Given the description of an element on the screen output the (x, y) to click on. 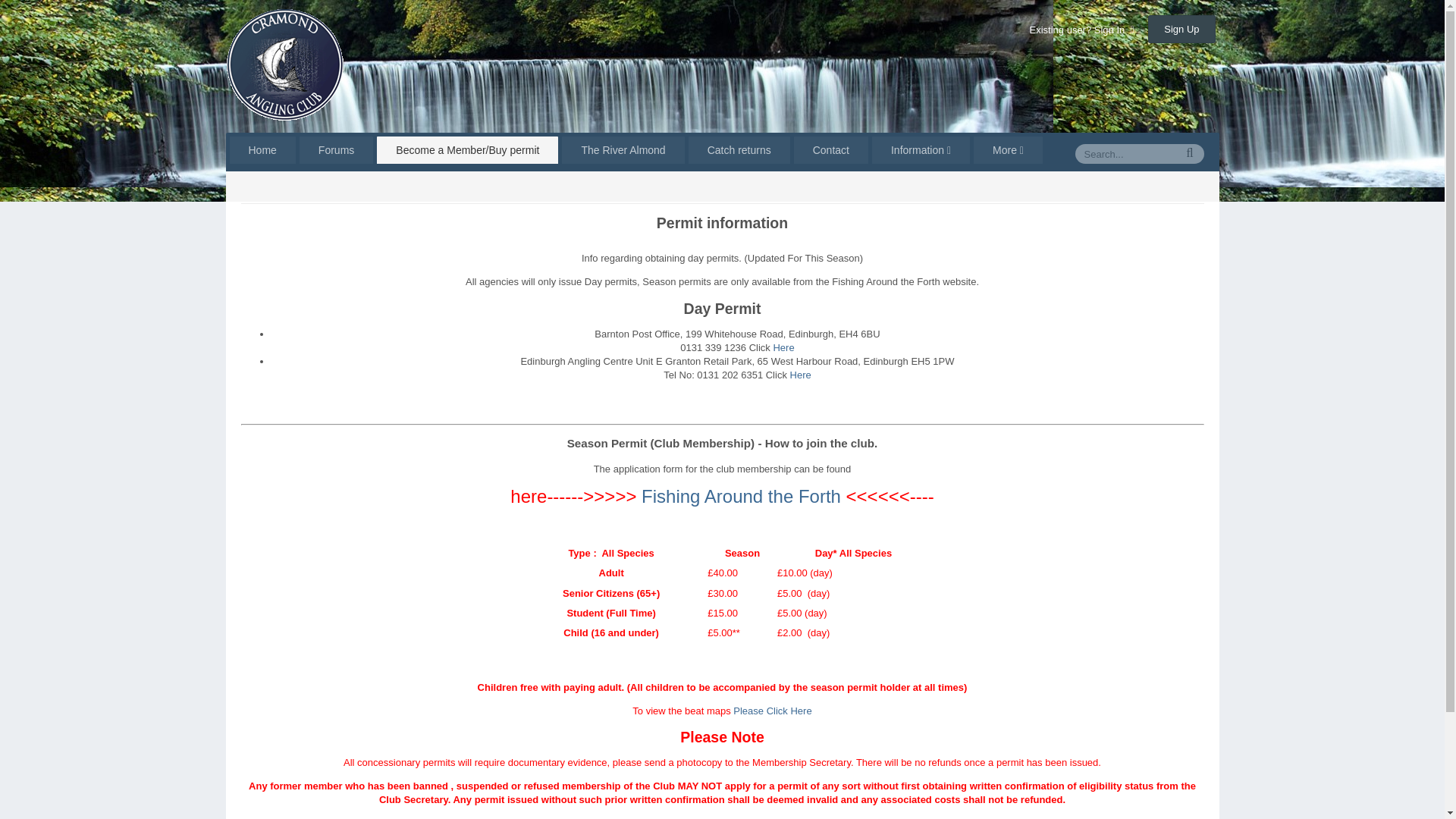
Contact (830, 149)
Permit information (326, 187)
Home (262, 187)
Home (261, 149)
Information (920, 149)
All Activity (1180, 187)
The River Almond (623, 149)
Catch returns (739, 149)
Sign Up (1181, 29)
More (1008, 149)
Home (262, 187)
Here (783, 347)
Forums (335, 149)
Existing user? Sign In   (1081, 30)
